Given the description of an element on the screen output the (x, y) to click on. 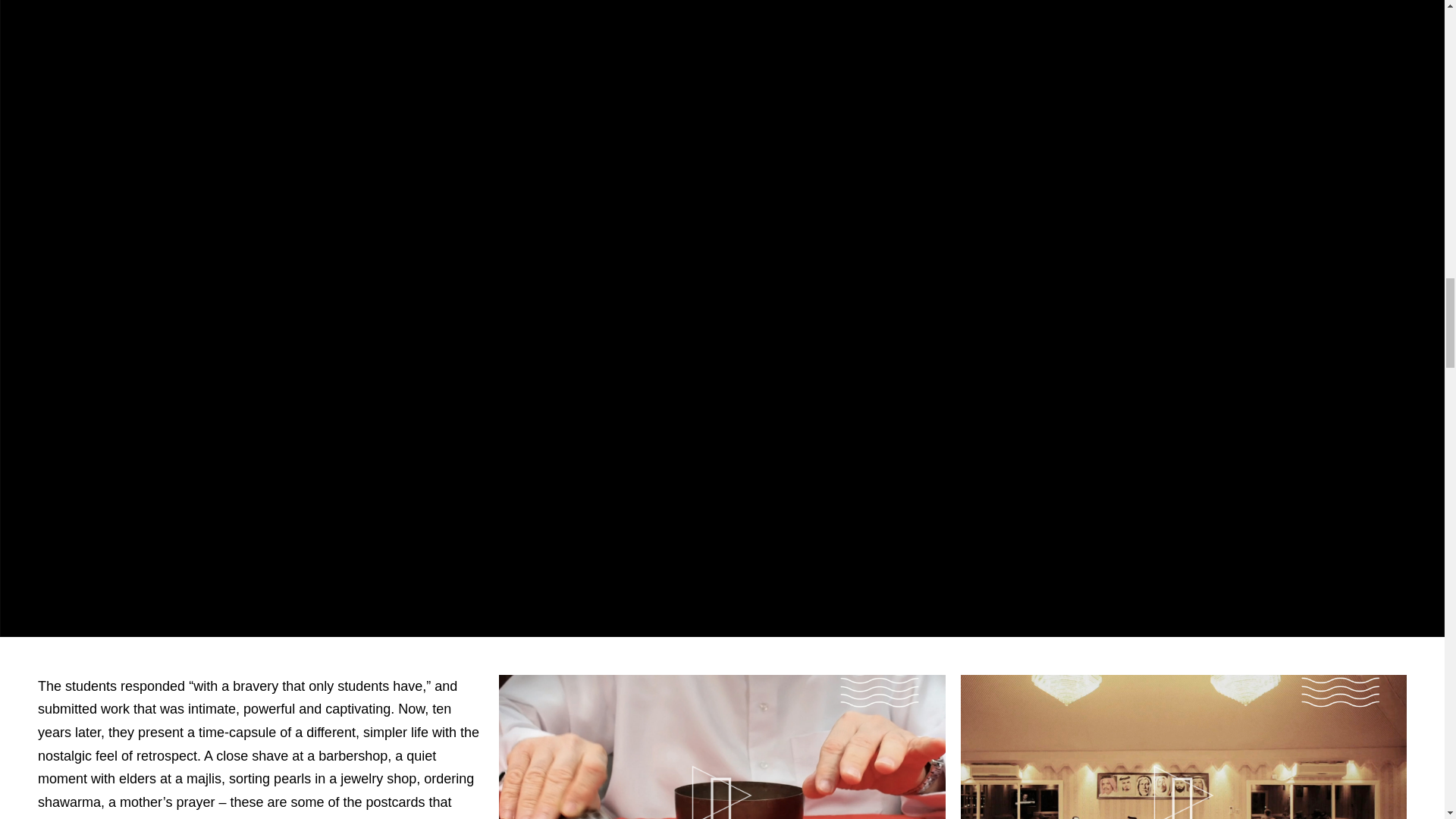
vimeo Video Player (721, 746)
vimeo Video Player (1183, 746)
